Given the description of an element on the screen output the (x, y) to click on. 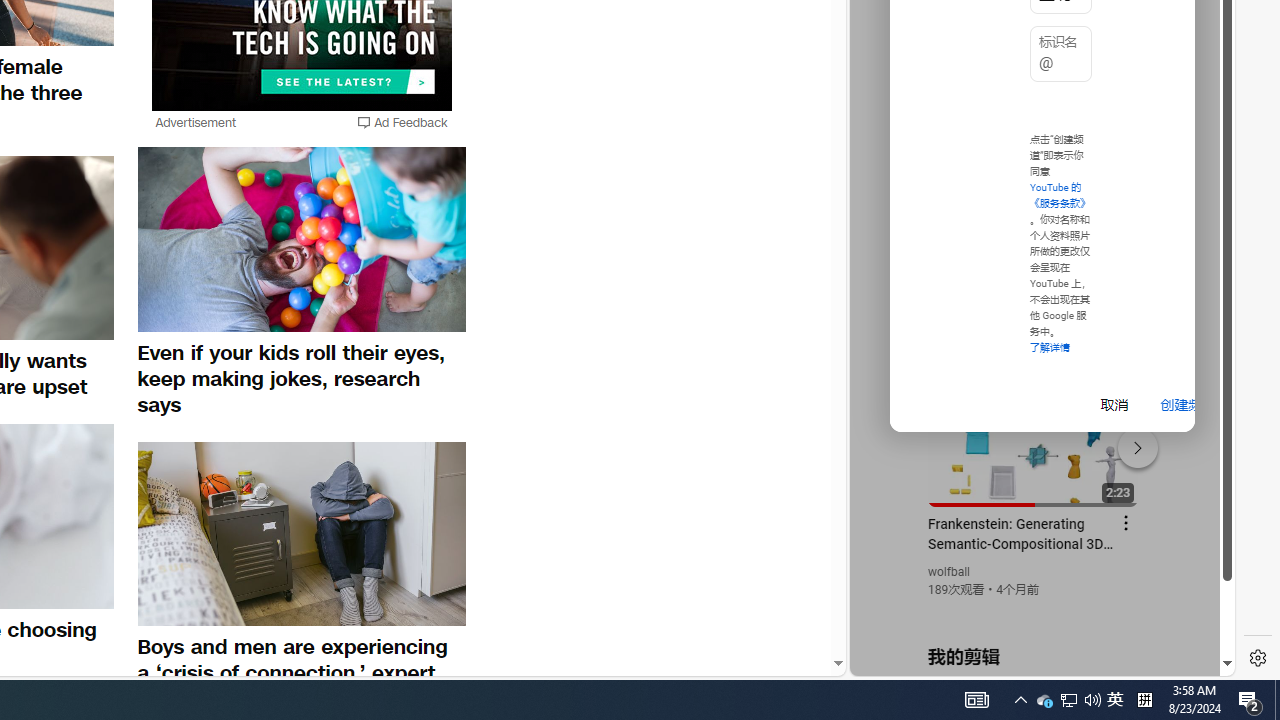
#you (1034, 439)
YouTube - YouTube (1034, 266)
YouTube (1034, 432)
Actions for this site (1131, 443)
